Given the description of an element on the screen output the (x, y) to click on. 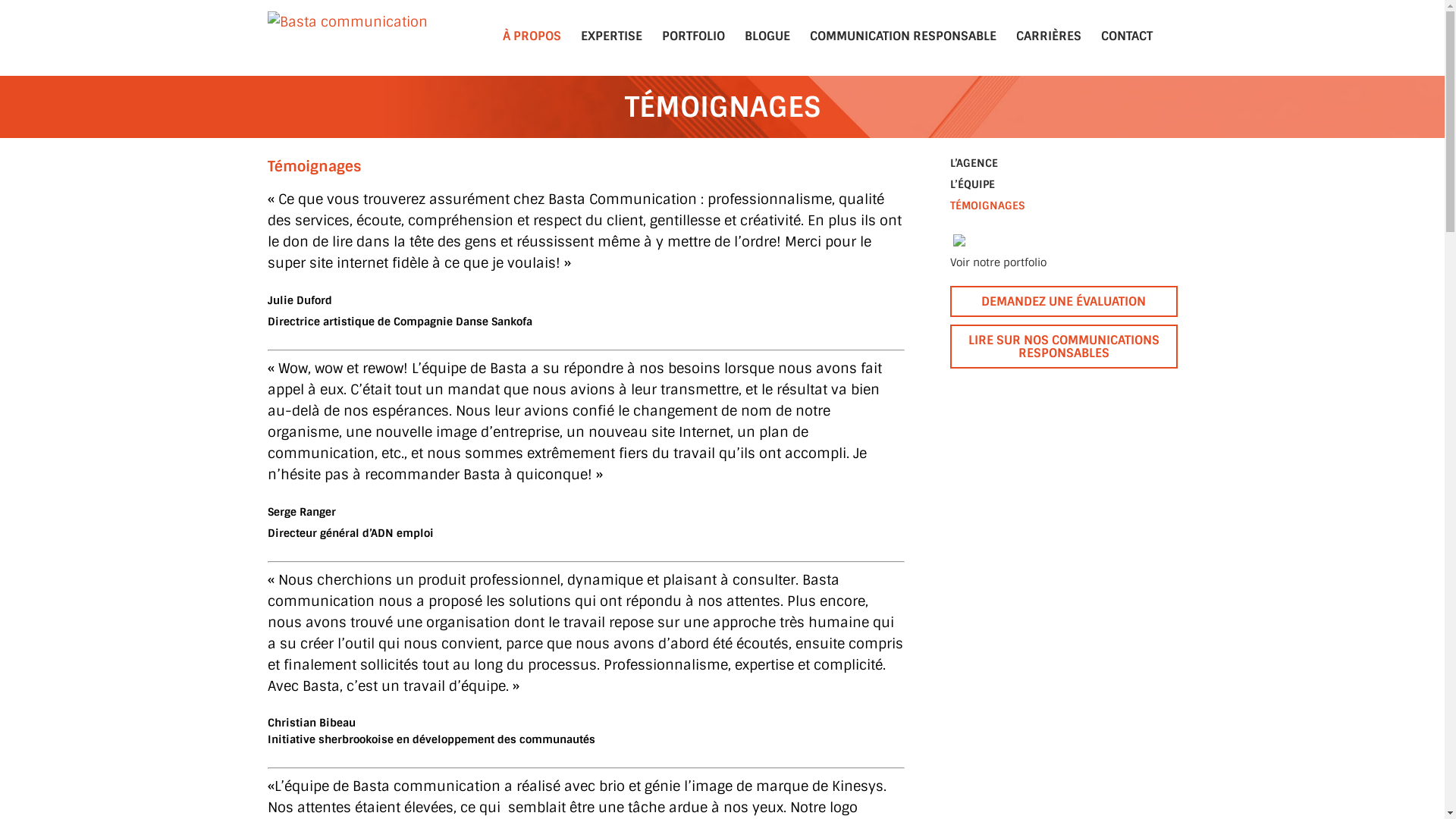
BLOGUE Element type: text (766, 36)
COMMUNICATION RESPONSABLE Element type: text (902, 36)
Voir notre portfolio Element type: text (1062, 262)
CONTACT Element type: text (1125, 36)
PORTFOLIO Element type: text (693, 36)
EXPERTISE Element type: text (610, 36)
LIRE SUR NOS COMMUNICATIONS RESPONSABLES Element type: text (1062, 346)
